Given the description of an element on the screen output the (x, y) to click on. 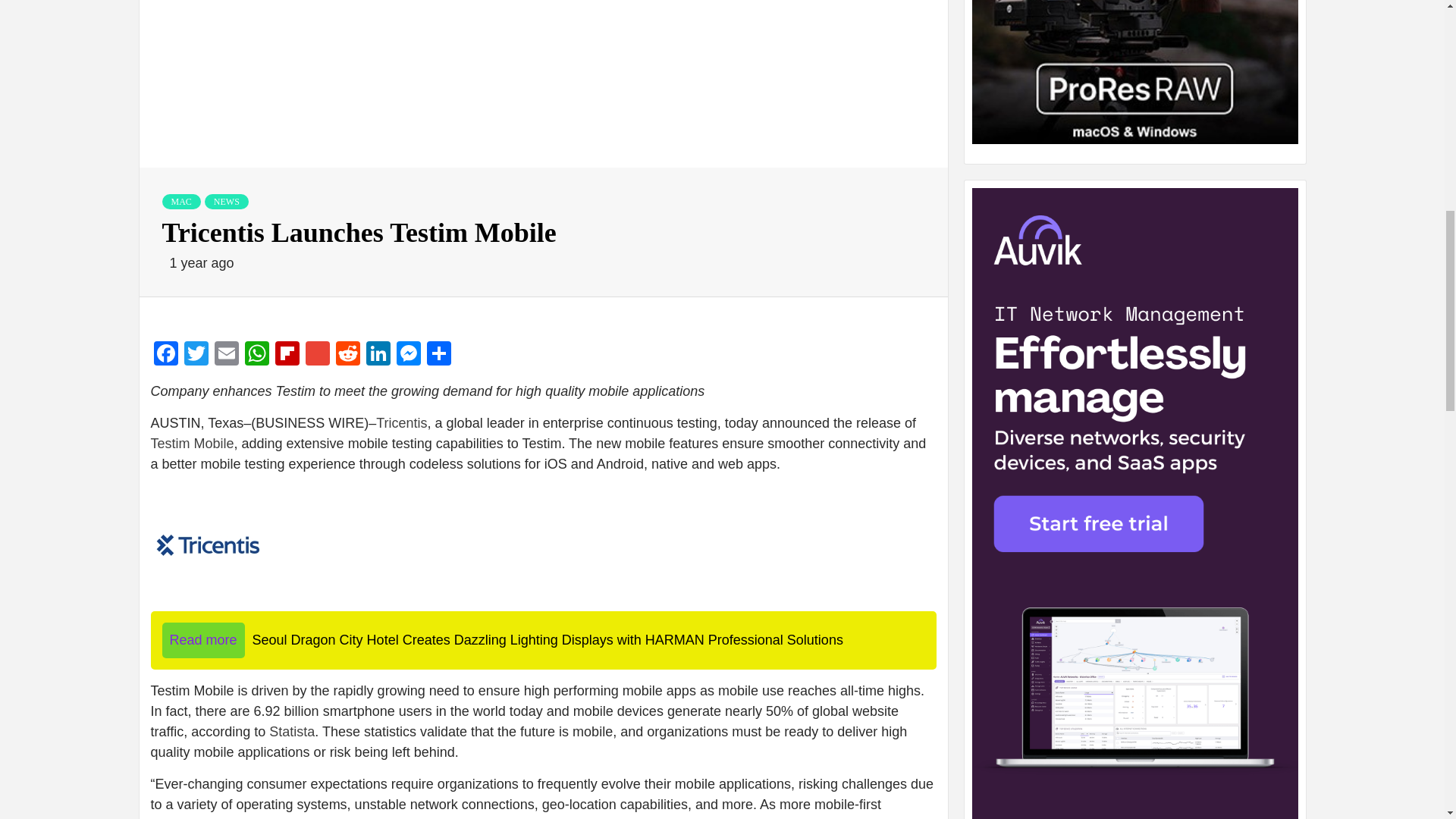
Messenger (408, 355)
Facebook (164, 355)
Gmail (316, 355)
NEWS (226, 201)
Twitter (195, 355)
Reddit (346, 355)
MAC (180, 201)
Flipboard (285, 355)
LinkedIn (377, 355)
Messenger (408, 355)
